Given the description of an element on the screen output the (x, y) to click on. 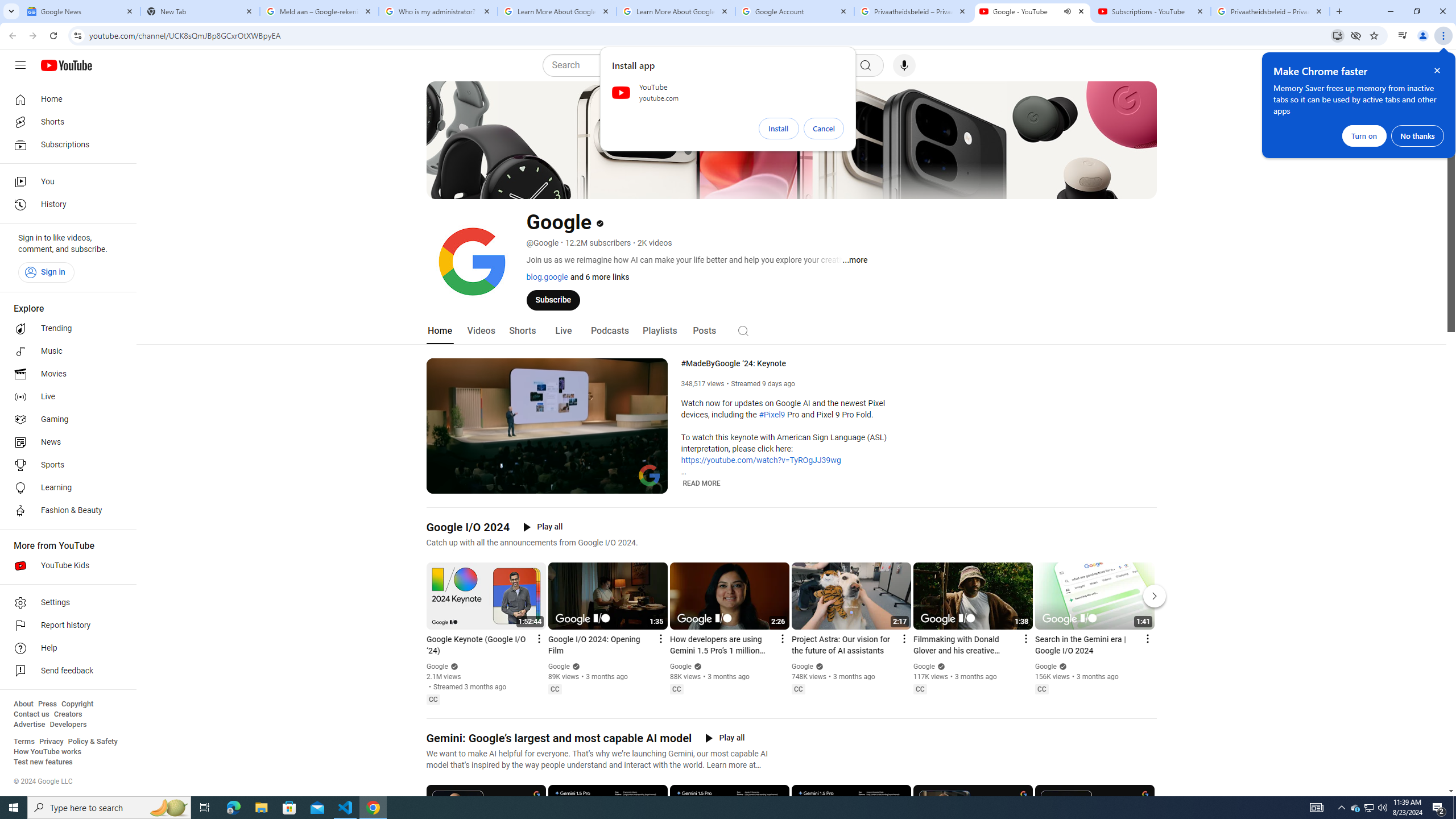
Subtitles/closed captions unavailable (609, 483)
Google I/O 2024 (467, 526)
Google - YouTube - Audio playing (1032, 11)
READ MORE (701, 482)
Gaming (64, 419)
